Given the description of an element on the screen output the (x, y) to click on. 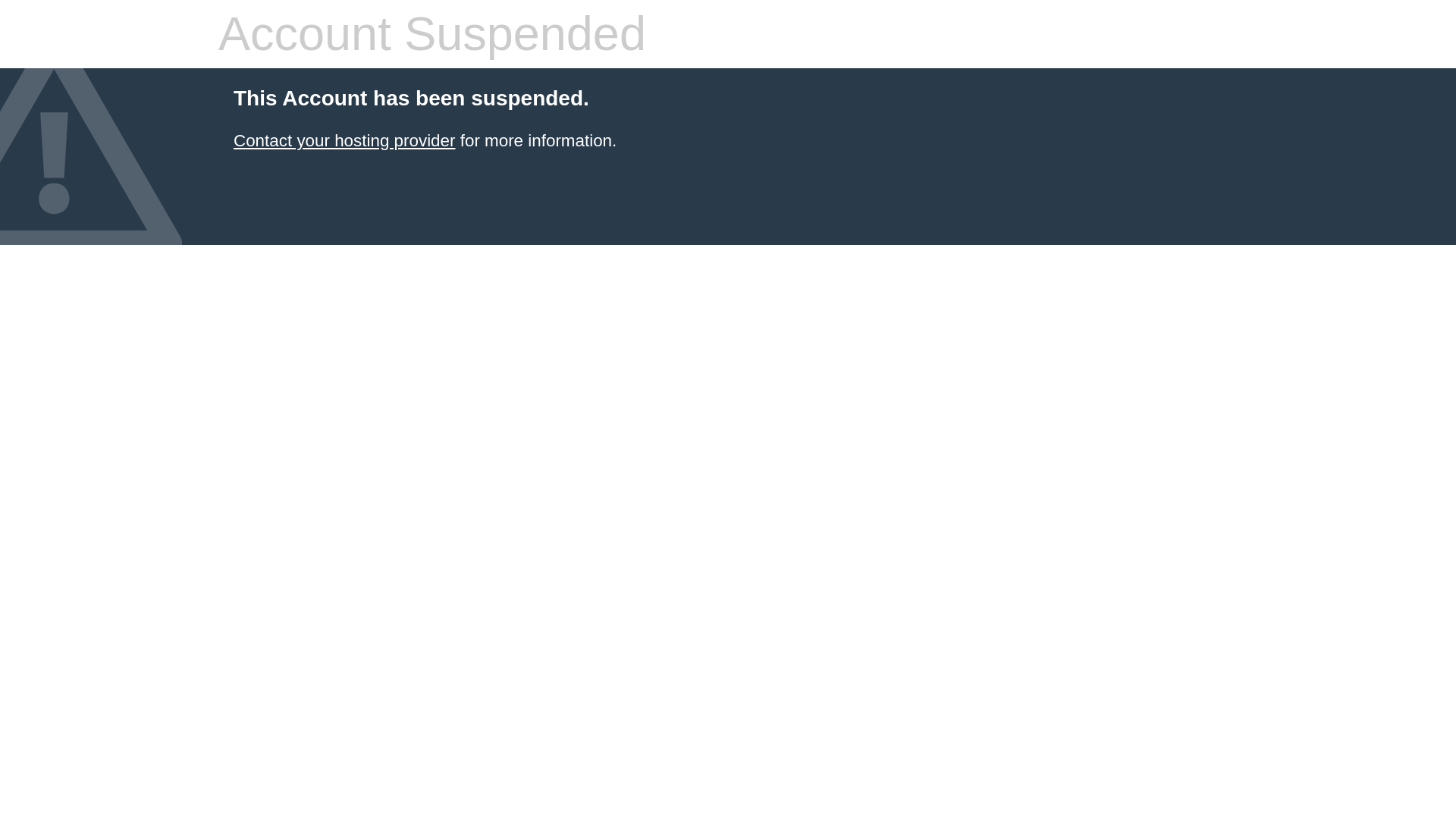
Contact your hosting provider (343, 140)
